Given the description of an element on the screen output the (x, y) to click on. 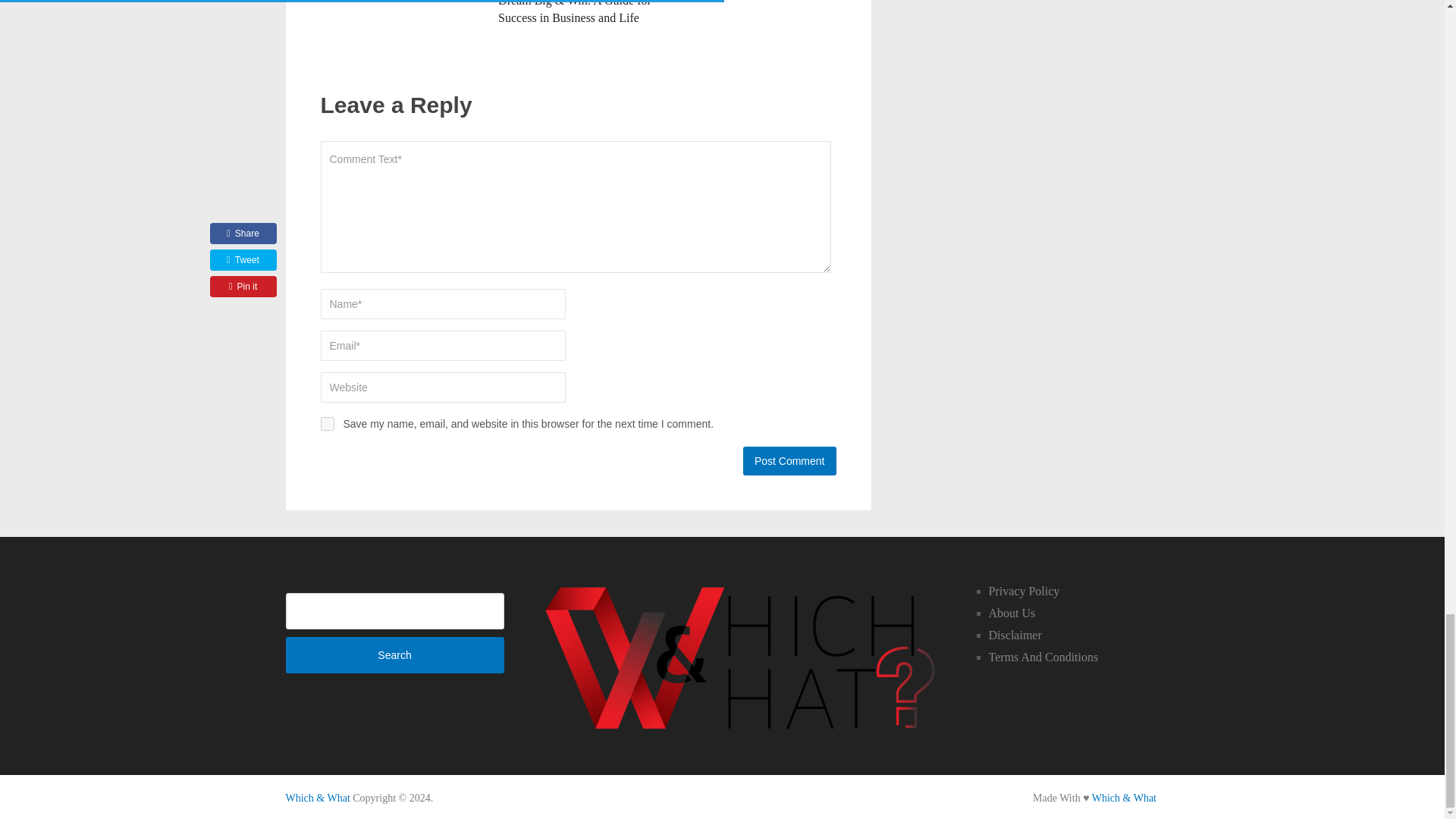
Post Comment (788, 460)
yes (326, 423)
